Given the description of an element on the screen output the (x, y) to click on. 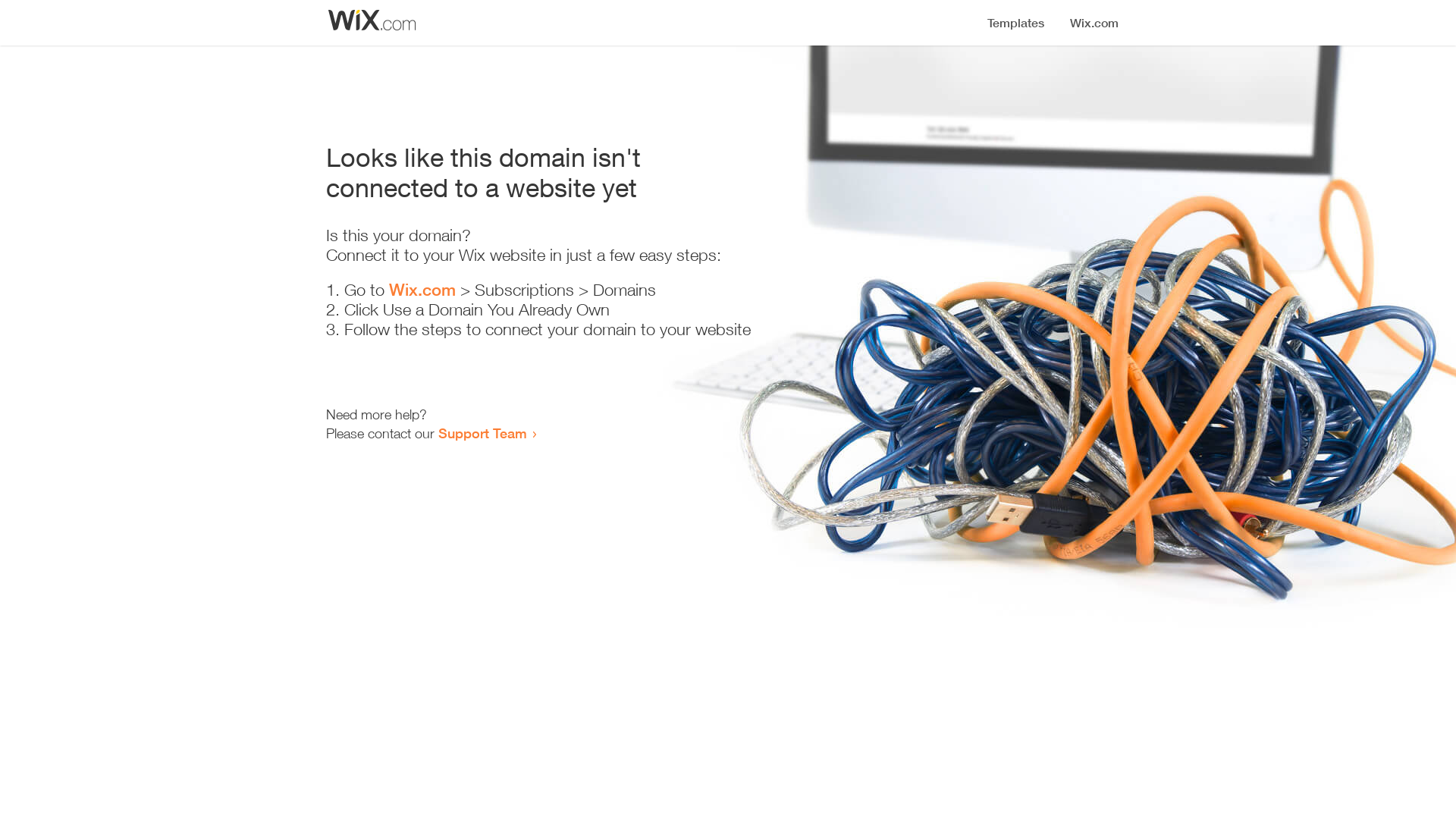
Support Team Element type: text (482, 432)
Wix.com Element type: text (422, 289)
